Given the description of an element on the screen output the (x, y) to click on. 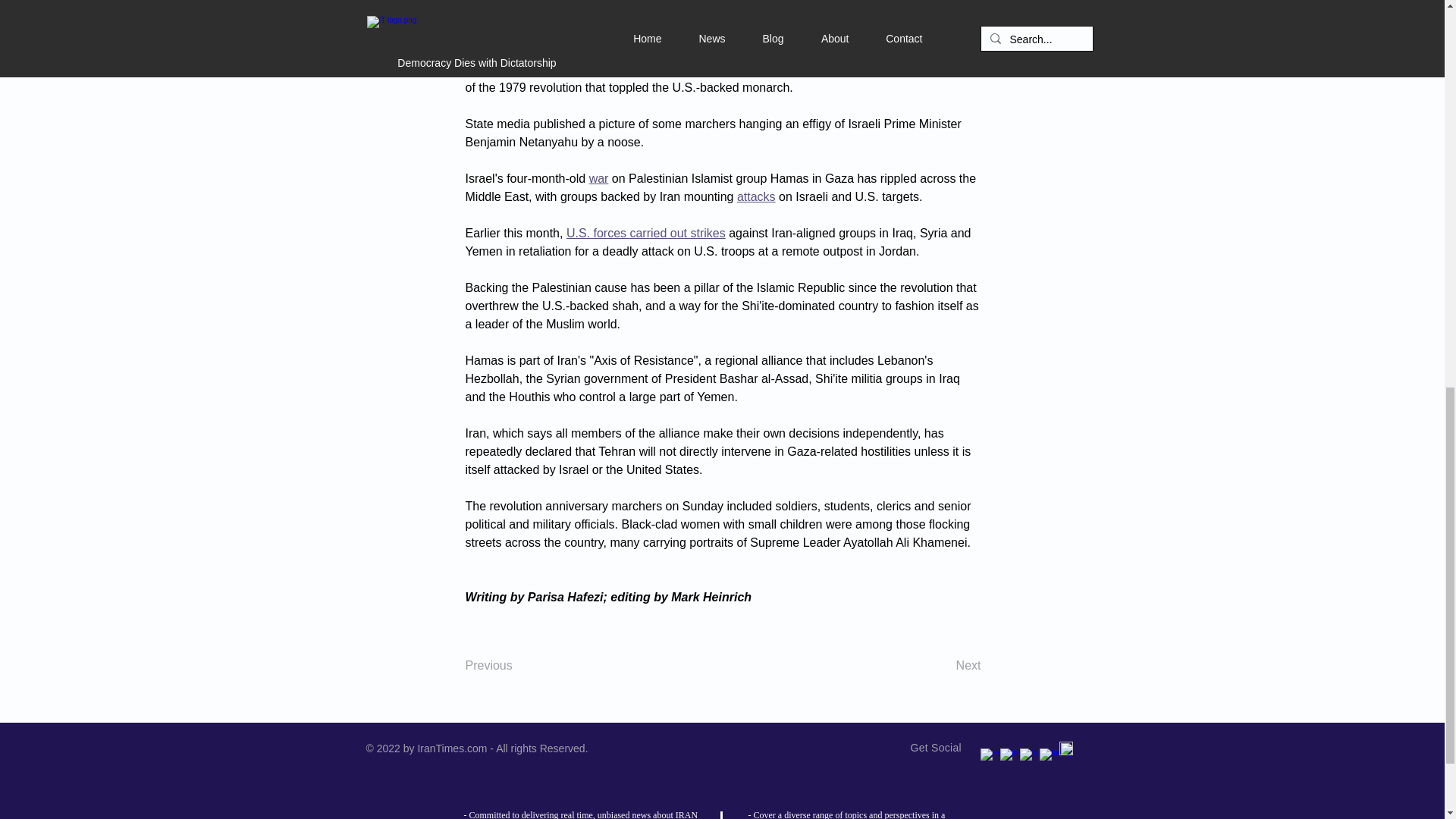
war (598, 178)
U.S. forces carried out strikes (645, 232)
attacks (756, 196)
Next (943, 665)
Previous (515, 665)
